Given the description of an element on the screen output the (x, y) to click on. 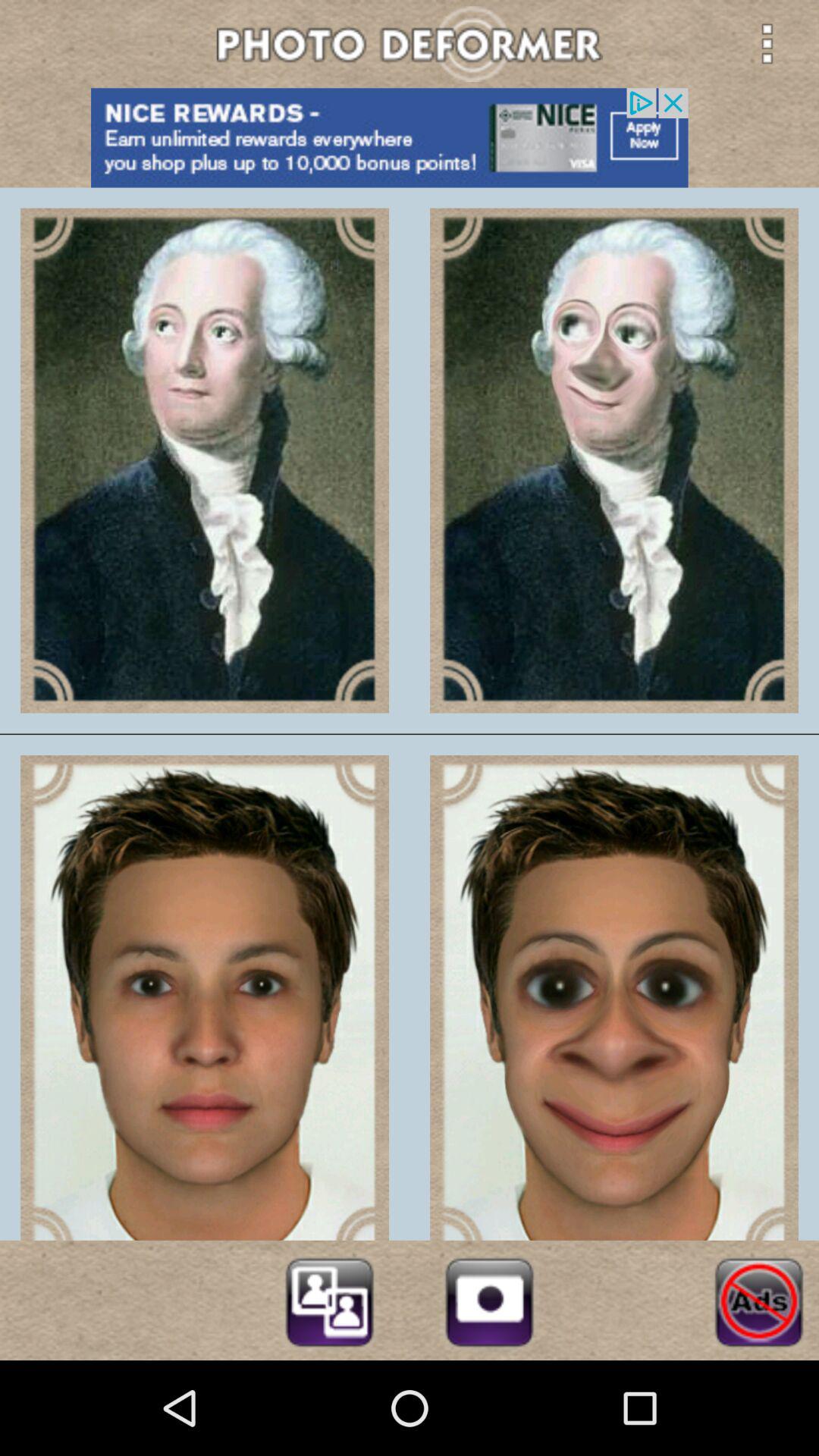
select from photo gallery (329, 1300)
